Given the description of an element on the screen output the (x, y) to click on. 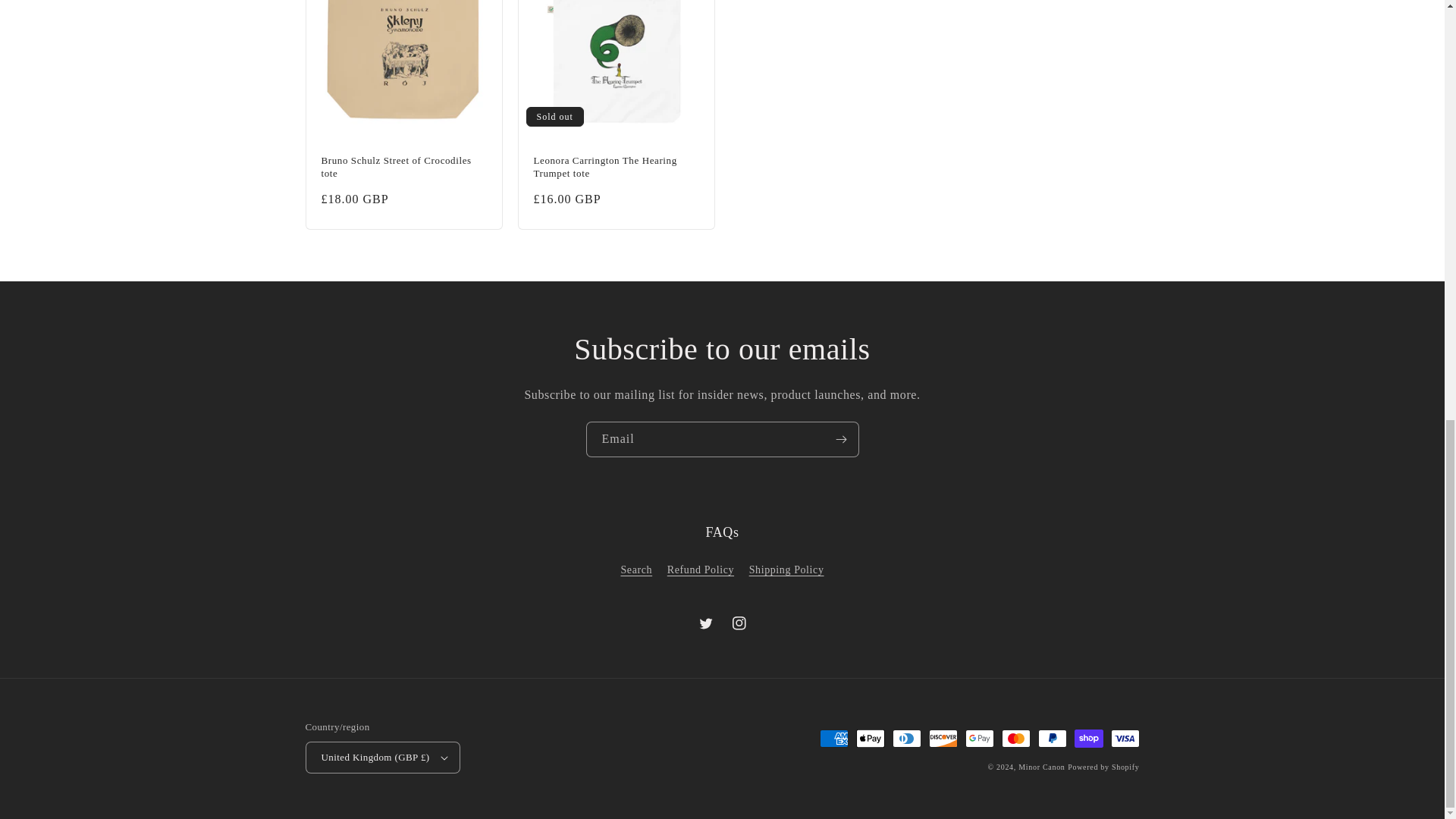
Bruno Schulz Street of Crocodiles tote (403, 167)
